Given the description of an element on the screen output the (x, y) to click on. 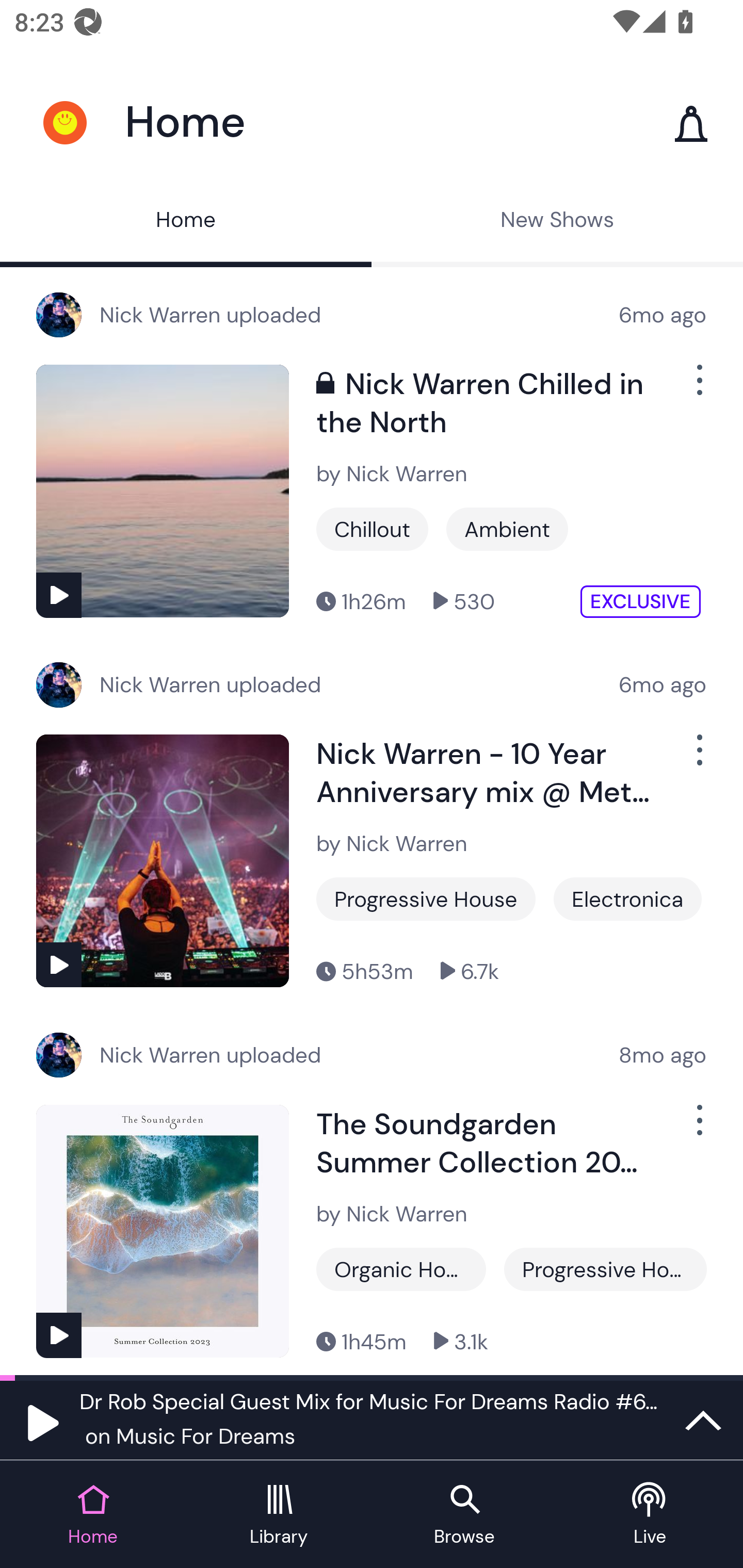
Home (185, 221)
New Shows (557, 221)
Show Options Menu Button (697, 387)
Chillout (371, 529)
Ambient (507, 529)
Show Options Menu Button (697, 756)
Progressive House (425, 899)
Electronica (627, 899)
Show Options Menu Button (697, 1128)
Organic House (400, 1269)
Progressive House (604, 1269)
Home tab Home (92, 1515)
Library tab Library (278, 1515)
Browse tab Browse (464, 1515)
Live tab Live (650, 1515)
